Given the description of an element on the screen output the (x, y) to click on. 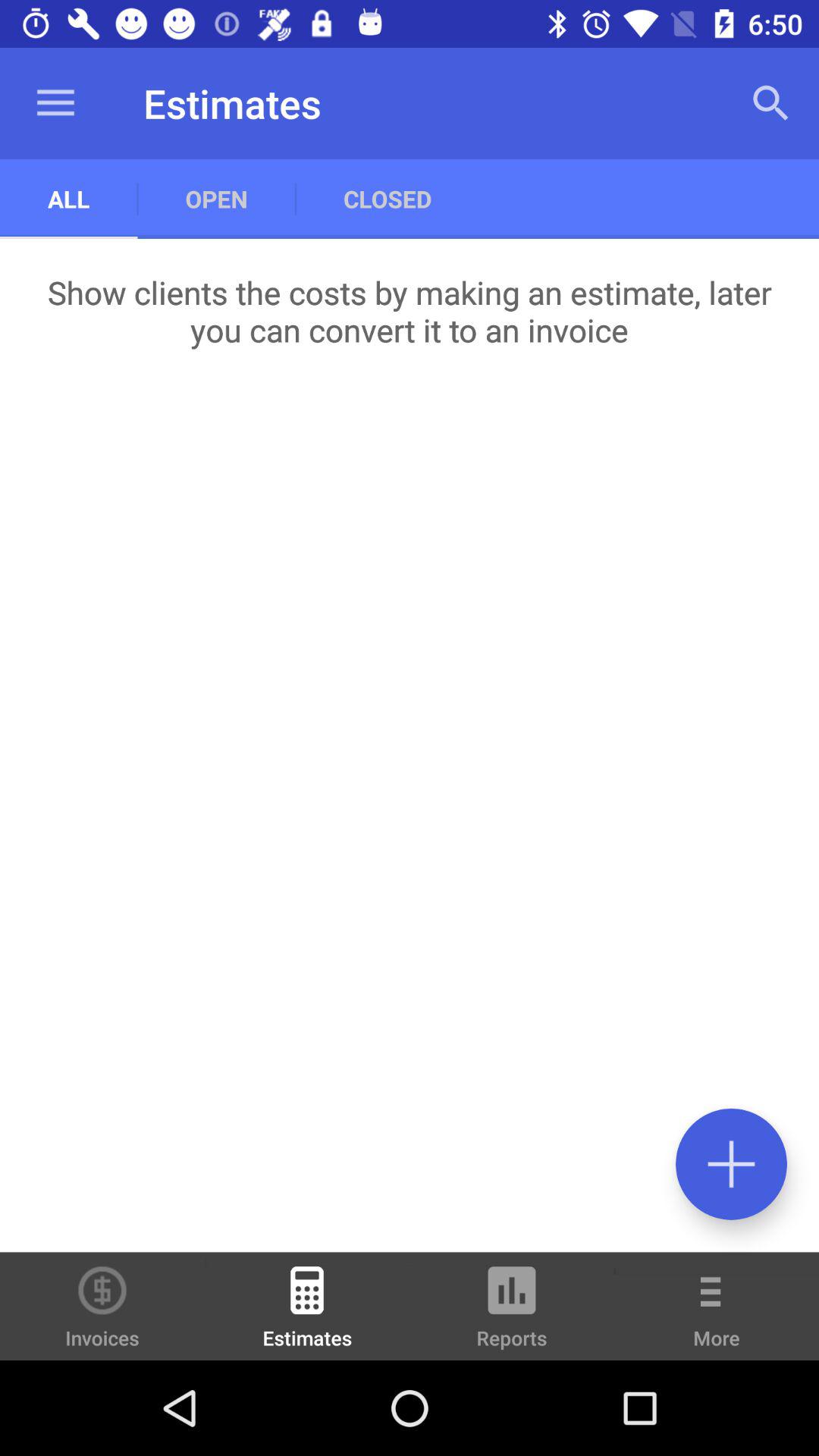
scroll until the more icon (716, 1317)
